Given the description of an element on the screen output the (x, y) to click on. 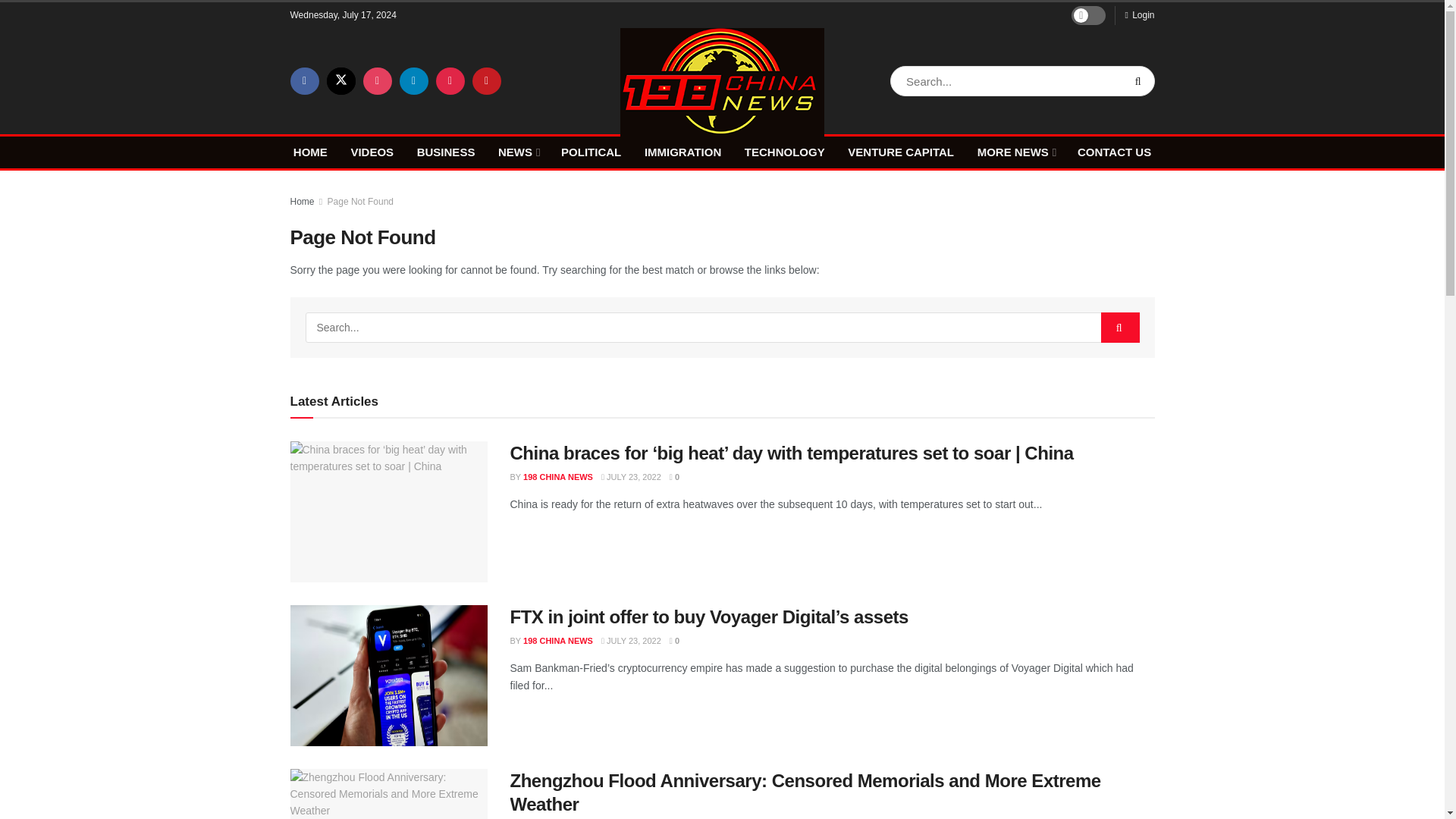
POLITICAL (590, 151)
BUSINESS (446, 151)
NEWS (517, 151)
HOME (310, 151)
IMMIGRATION (682, 151)
CONTACT US (1114, 151)
TECHNOLOGY (784, 151)
VENTURE CAPITAL (900, 151)
VIDEOS (371, 151)
Login (1139, 14)
MORE NEWS (1015, 151)
